Given the description of an element on the screen output the (x, y) to click on. 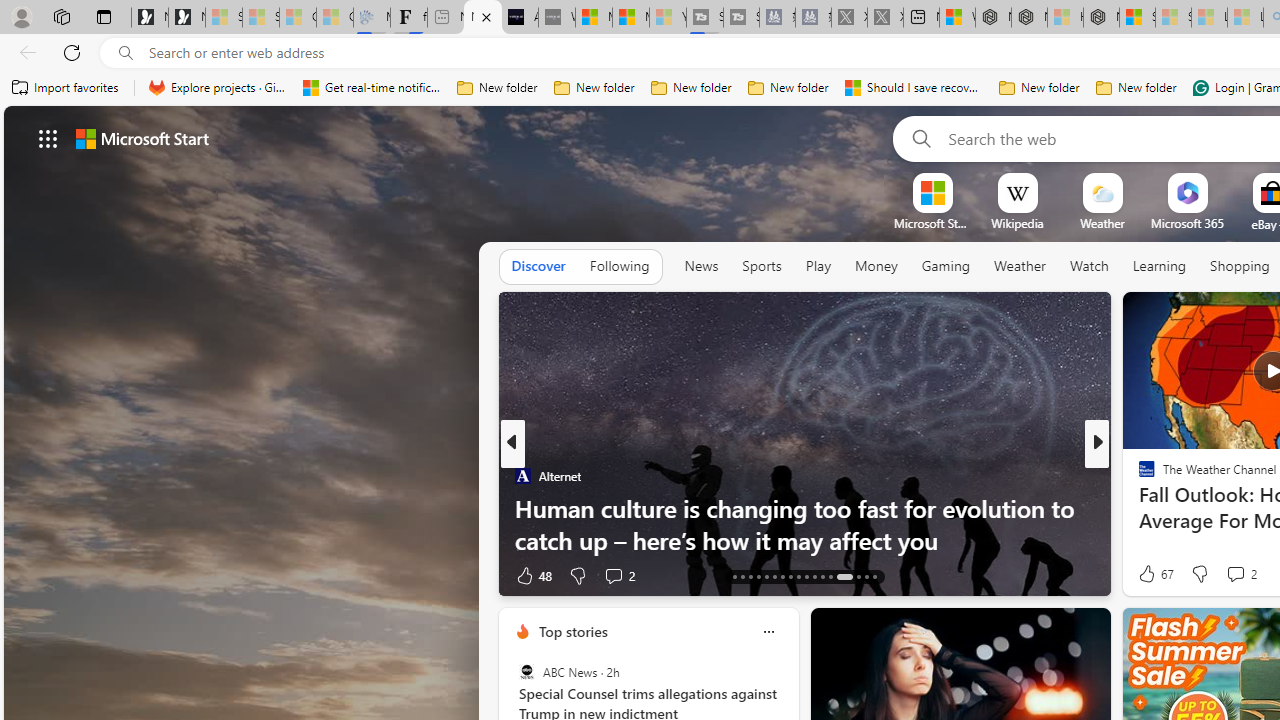
Refresh (72, 52)
More options (768, 631)
AutomationID: tab-19 (750, 576)
New tab - Sleeping (445, 17)
Weather (1020, 265)
AutomationID: tab-27 (814, 576)
AutomationID: tab-29 (829, 576)
257 Like (1151, 574)
48 Like (532, 574)
AutomationID: tab-43 (874, 576)
More Options (1219, 179)
Start the conversation (1235, 574)
